Given the description of an element on the screen output the (x, y) to click on. 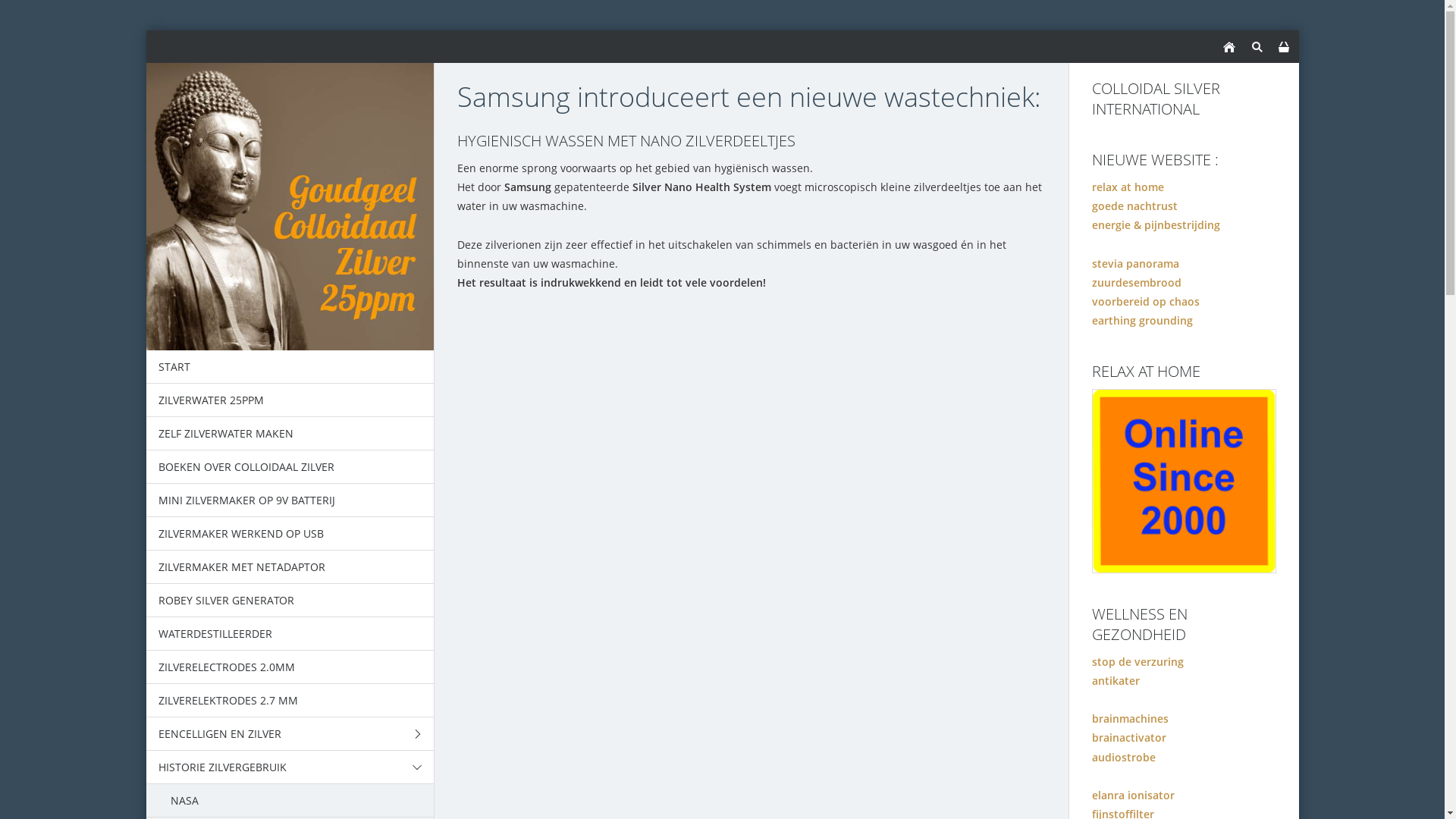
ZILVERWATER 25PPM Element type: text (289, 400)
brainmachines Element type: text (1130, 718)
START Element type: text (289, 366)
antikater Element type: text (1115, 680)
EENCELLIGEN EN ZILVER Element type: text (289, 733)
ZELF ZILVERWATER MAKEN Element type: text (289, 433)
earthing grounding Element type: text (1142, 320)
BOEKEN OVER COLLOIDAAL ZILVER Element type: text (289, 466)
energie & pijnbestrijding Element type: text (1156, 224)
voorbereid op chaos Element type: text (1145, 301)
MINI ZILVERMAKER OP 9V BATTERIJ Element type: text (289, 500)
goede nachtrust Element type: text (1134, 205)
ZILVERMAKER MET NETADAPTOR Element type: text (289, 566)
ZILVERMAKER WERKEND OP USB Element type: text (289, 533)
zuurdesembrood Element type: text (1136, 282)
ZILVERELECTRODES 2.0MM Element type: text (289, 667)
HISTORIE ZILVERGEBRUIK Element type: text (289, 767)
ROBEY SILVER GENERATOR Element type: text (289, 600)
ZILVERELEKTRODES 2.7 MM Element type: text (289, 700)
brainactivator Element type: text (1129, 737)
stevia panorama Element type: text (1135, 263)
WATERDESTILLEERDER Element type: text (289, 633)
NASA Element type: text (289, 800)
stop de verzuring Element type: text (1137, 661)
elanra ionisator Element type: text (1133, 794)
relax at home Element type: text (1128, 186)
audiostrobe Element type: text (1123, 756)
